Given the description of an element on the screen output the (x, y) to click on. 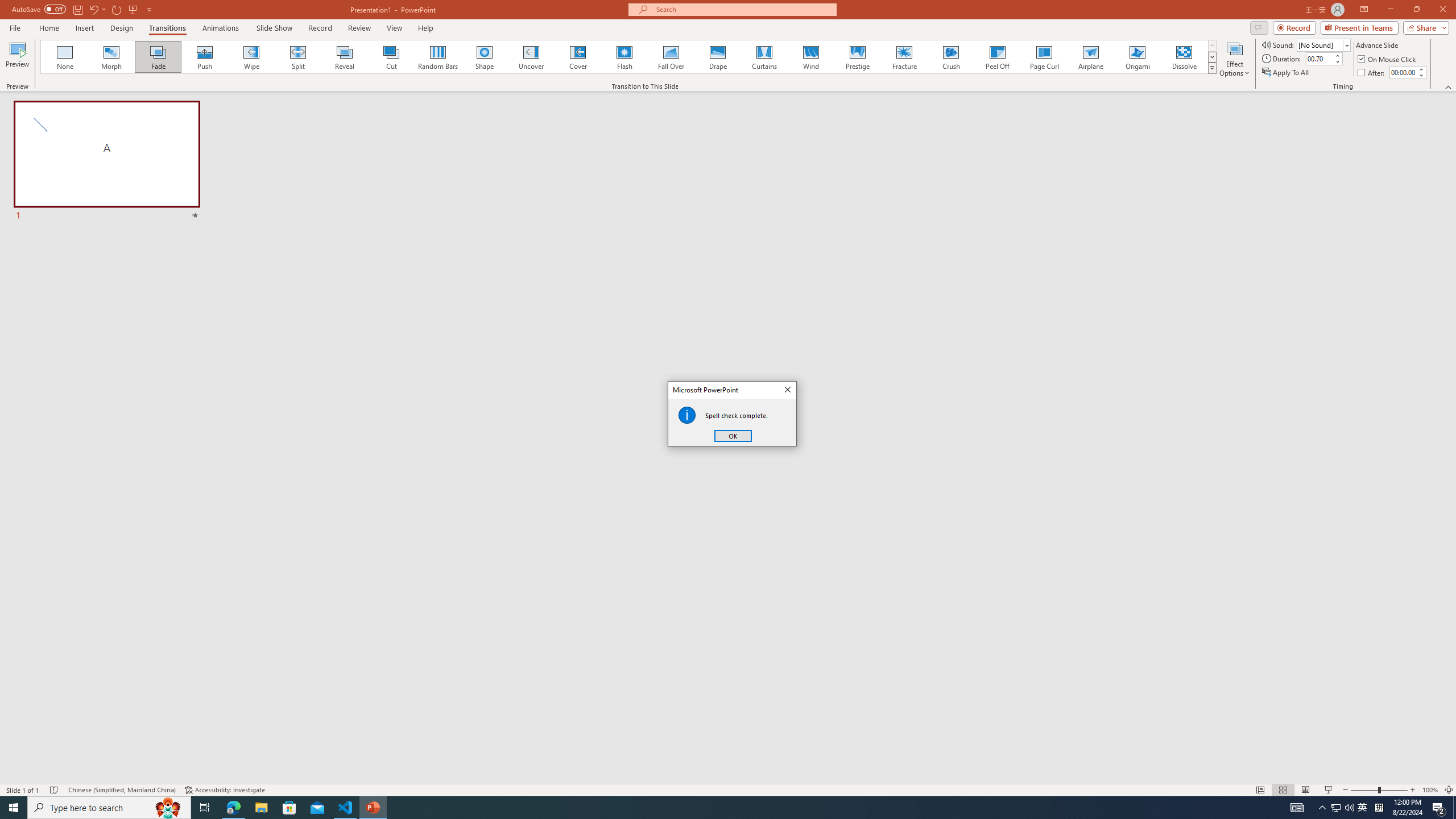
Sound (1324, 44)
Airplane (1090, 56)
Page Curl (1043, 56)
Dissolve (1183, 56)
Crush (950, 56)
